Given the description of an element on the screen output the (x, y) to click on. 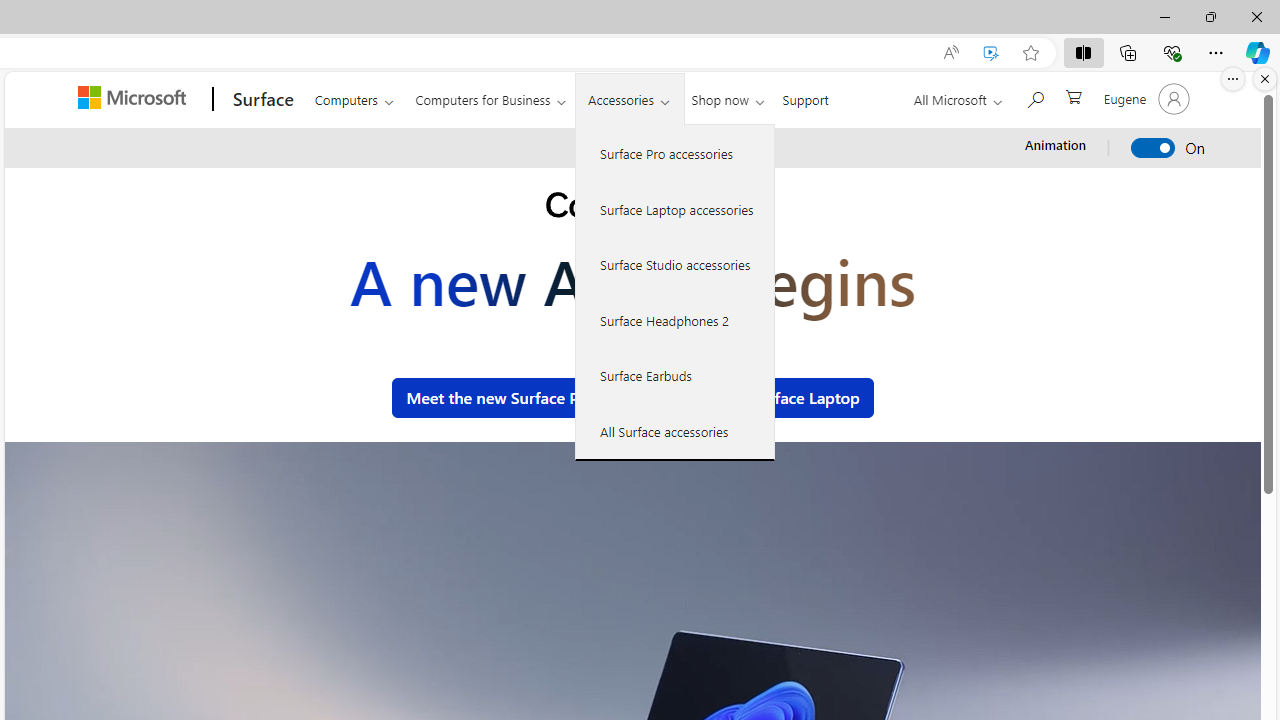
Surface (260, 99)
0 items in shopping cart (1072, 95)
Meet the new Surface Laptop (753, 397)
Enhance video (991, 53)
Surface Earbuds (675, 375)
